Given the description of an element on the screen output the (x, y) to click on. 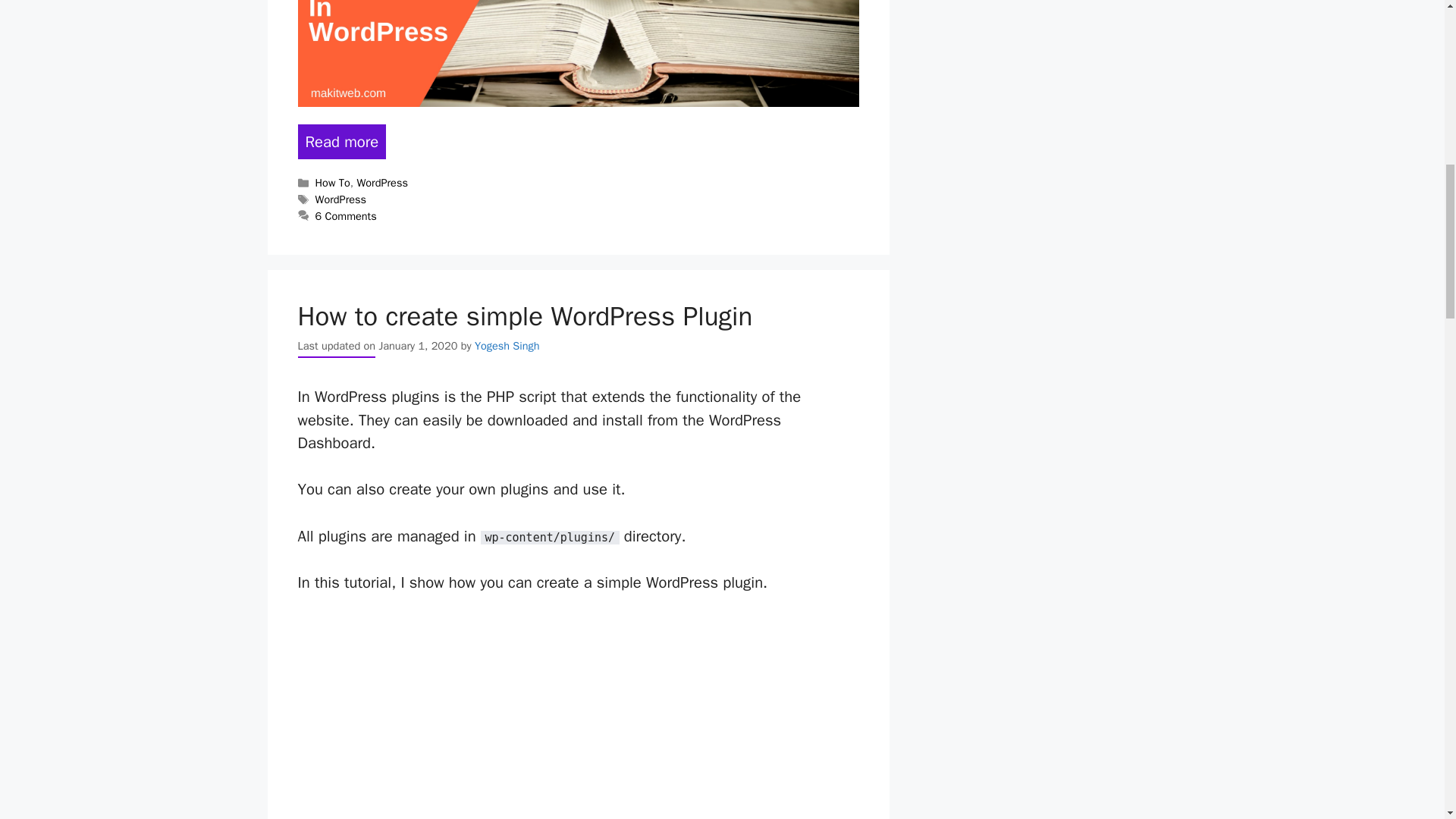
Yogesh Singh (507, 345)
WordPress (340, 199)
6 Comments (346, 215)
Read more (341, 141)
WordPress (381, 182)
How to create simple WordPress Plugin (524, 315)
View all posts by Yogesh Singh (507, 345)
How To (332, 182)
